Given the description of an element on the screen output the (x, y) to click on. 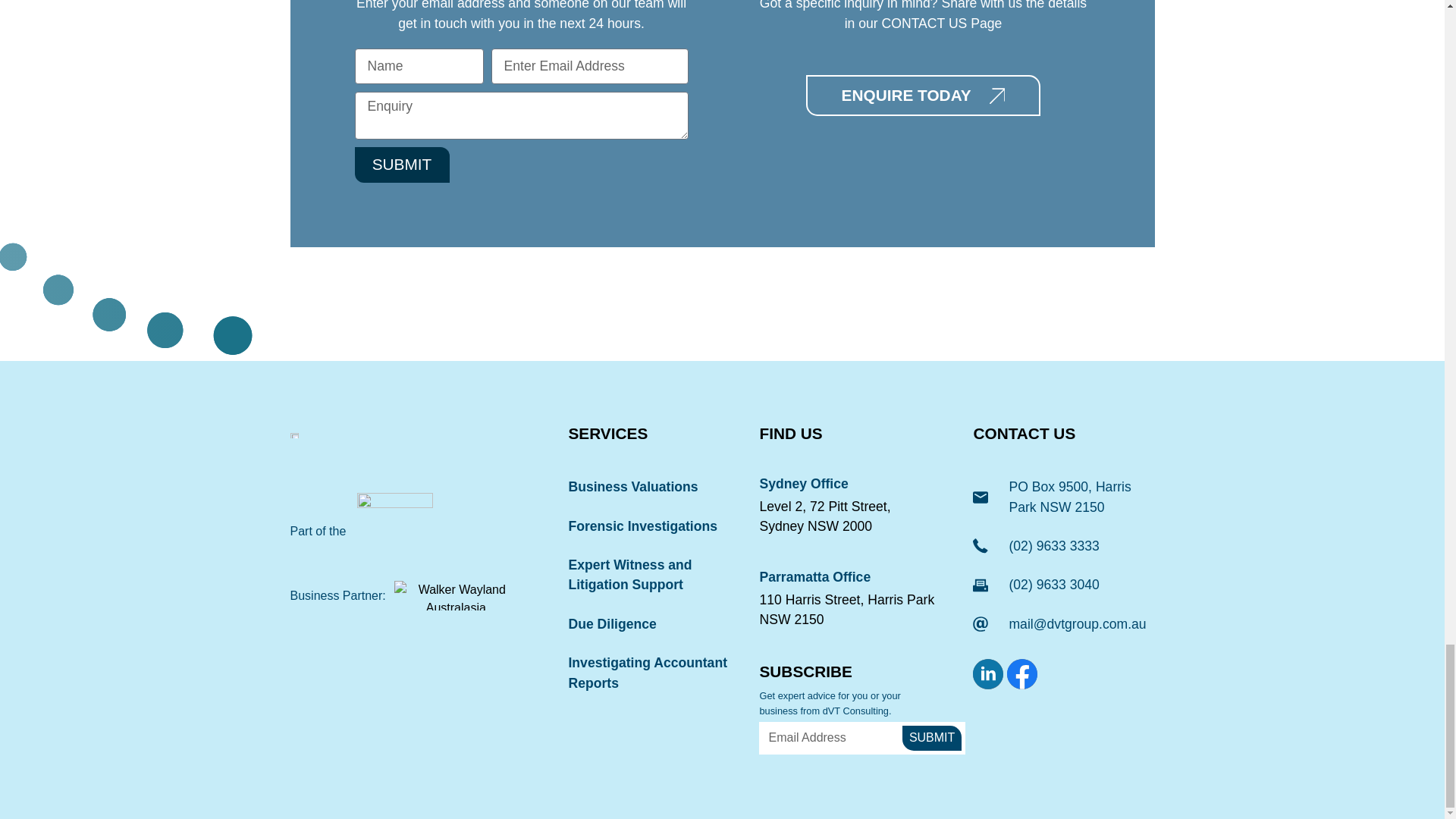
Business Valuations (651, 486)
ENQUIRE TODAY (923, 95)
SUBMIT (402, 164)
